Given the description of an element on the screen output the (x, y) to click on. 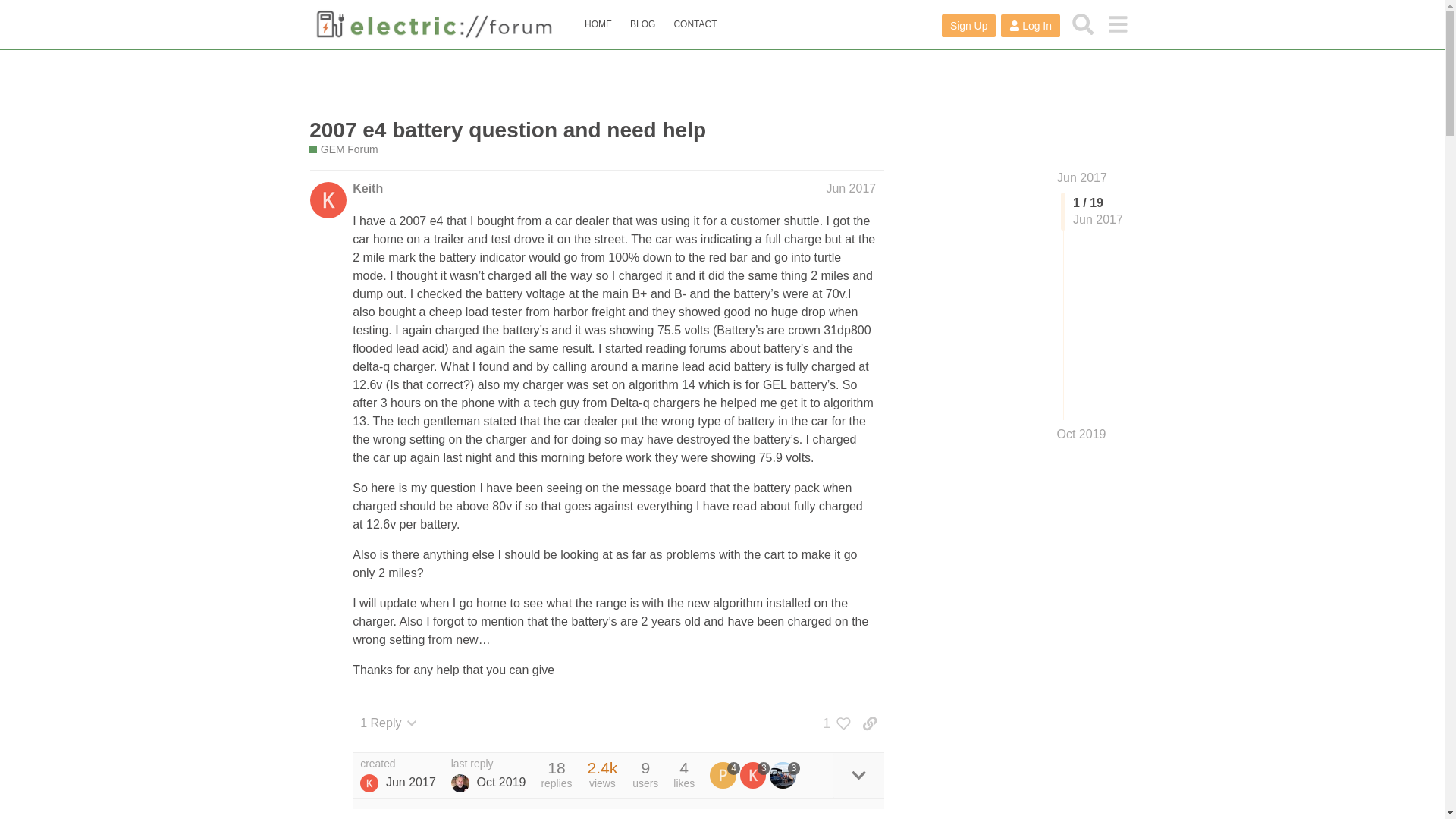
1 (832, 723)
1 person liked this post (832, 723)
Oct 2019 (1081, 434)
CONTACT (694, 23)
4 (724, 774)
copy a link to this post to clipboard (869, 723)
2007 e4 battery question and need help (507, 129)
Jump to the first post (1081, 177)
Post date (850, 187)
Keith (367, 188)
GEM Forum (342, 149)
BLOG (642, 23)
Jump to the last post (1081, 433)
expand topic details (857, 774)
